Given the description of an element on the screen output the (x, y) to click on. 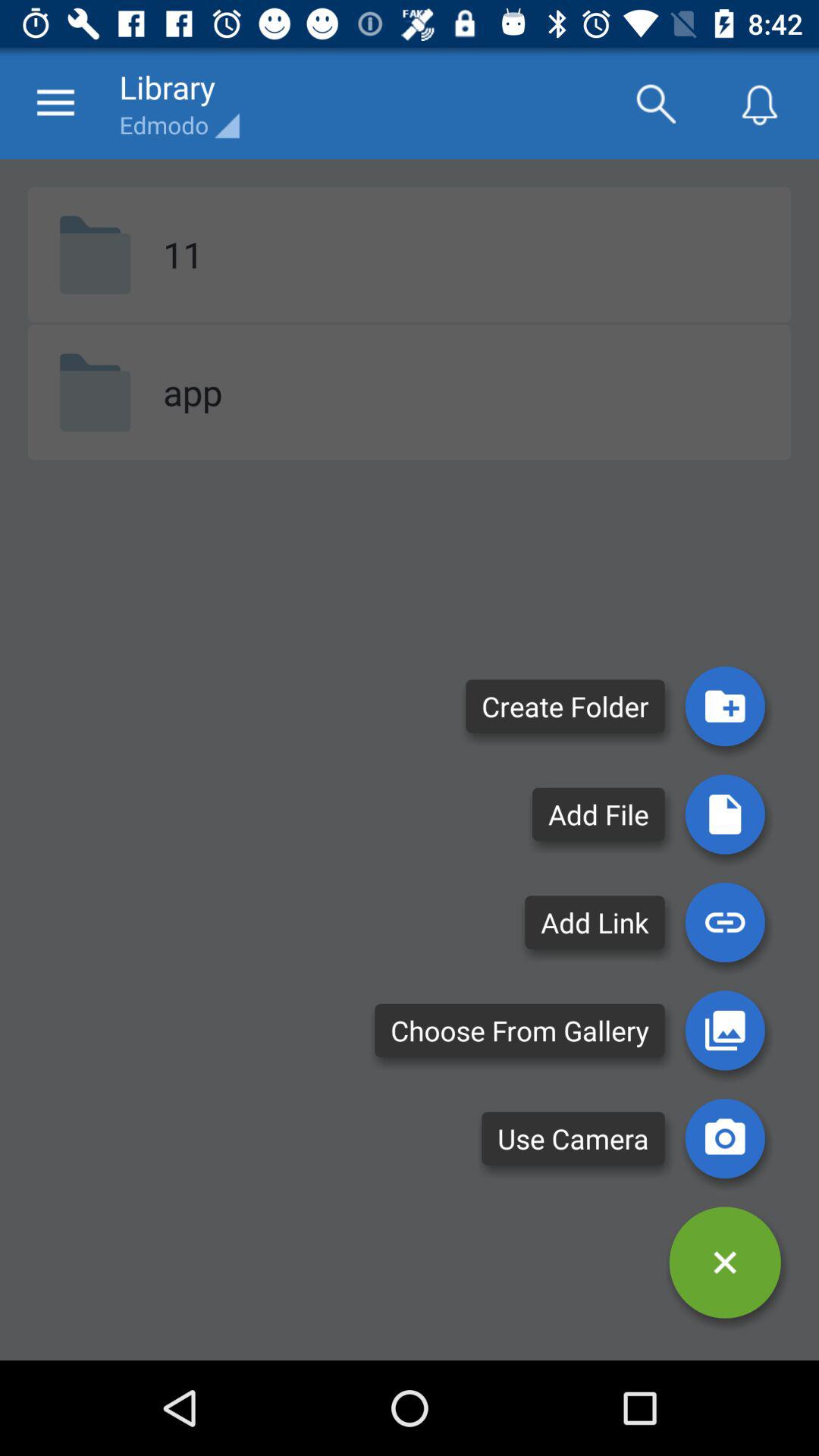
close the control panel (725, 1262)
